Given the description of an element on the screen output the (x, y) to click on. 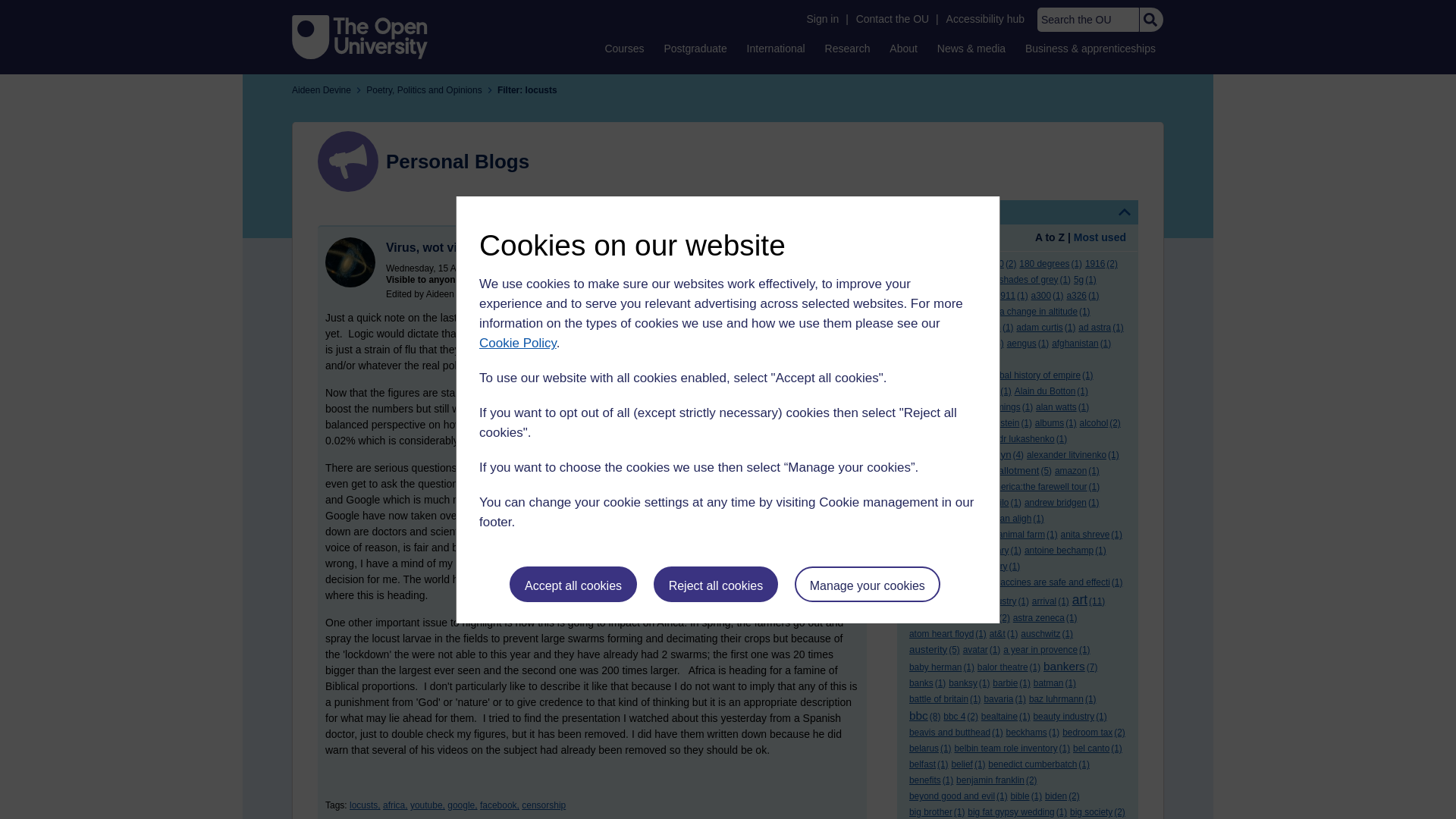
Search (1149, 19)
Contact the OU (892, 19)
Cookie Policy (517, 342)
The Open University (360, 36)
Search (1149, 19)
Accessibility hub (985, 19)
Sign in (822, 19)
Manage your cookies (867, 583)
Research (847, 48)
